Given the description of an element on the screen output the (x, y) to click on. 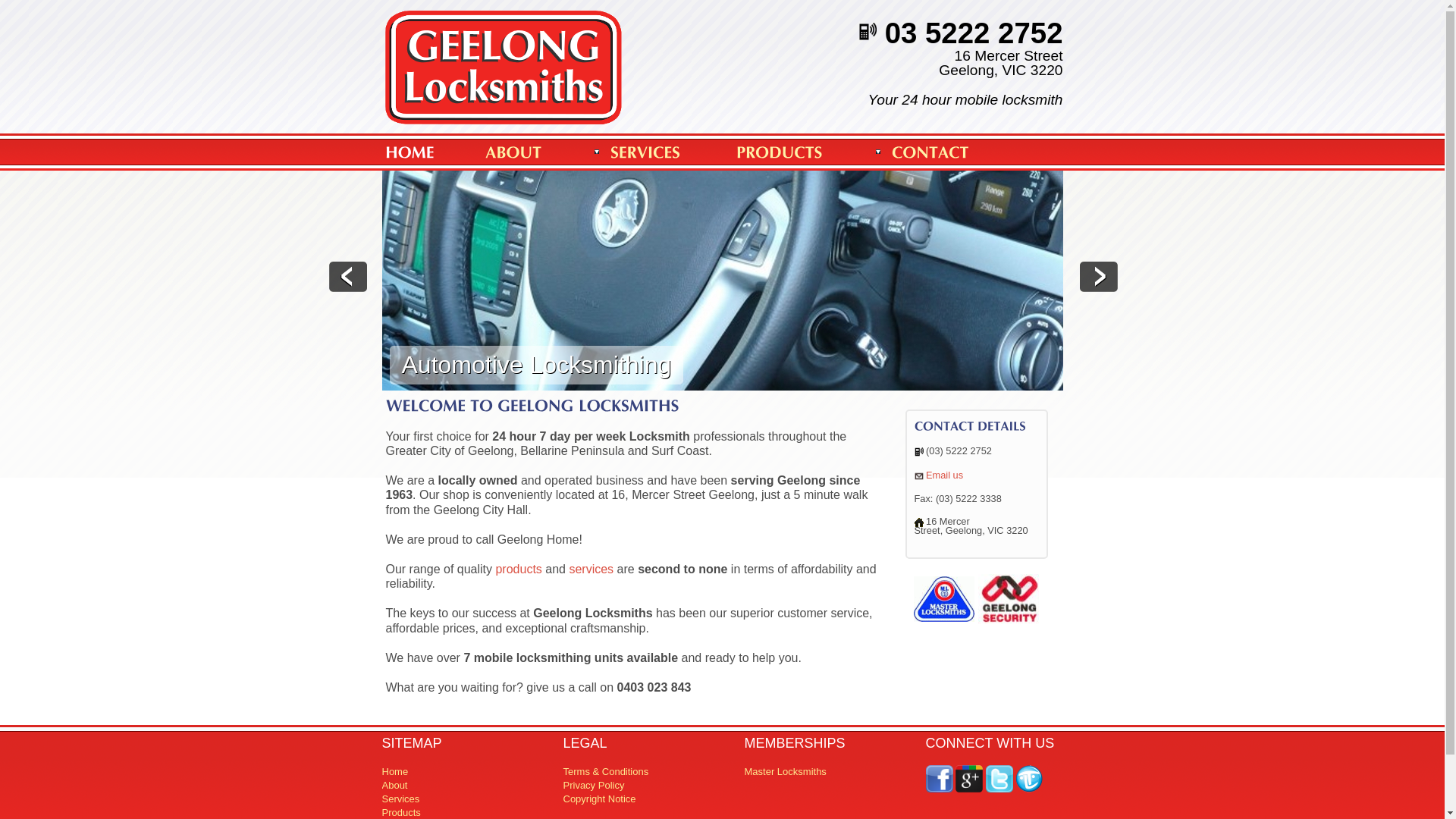
Contact Element type: hover (918, 474)
About Element type: text (394, 784)
Terms & Conditions Element type: text (605, 771)
services Element type: text (590, 568)
Home Element type: text (395, 771)
Privacy Policy Element type: text (593, 784)
Geelong Locksmiths - Twitter Element type: hover (999, 778)
Geelong Locksmiths - Google Plus Element type: hover (968, 778)
Home Element type: hover (503, 85)
Master Locksmiths Element type: text (785, 771)
Home Element type: hover (502, 44)
Geelong Locksmiths - Facebook Page Element type: hover (938, 778)
Geelong Locksmiths TrueLocal Element type: hover (1028, 778)
Services Element type: text (401, 798)
Copyright Notice Element type: text (598, 798)
Automotive Locksmithing Element type: text (722, 280)
products Element type: text (518, 568)
Products Element type: text (401, 812)
Email us Element type: text (944, 474)
